Given the description of an element on the screen output the (x, y) to click on. 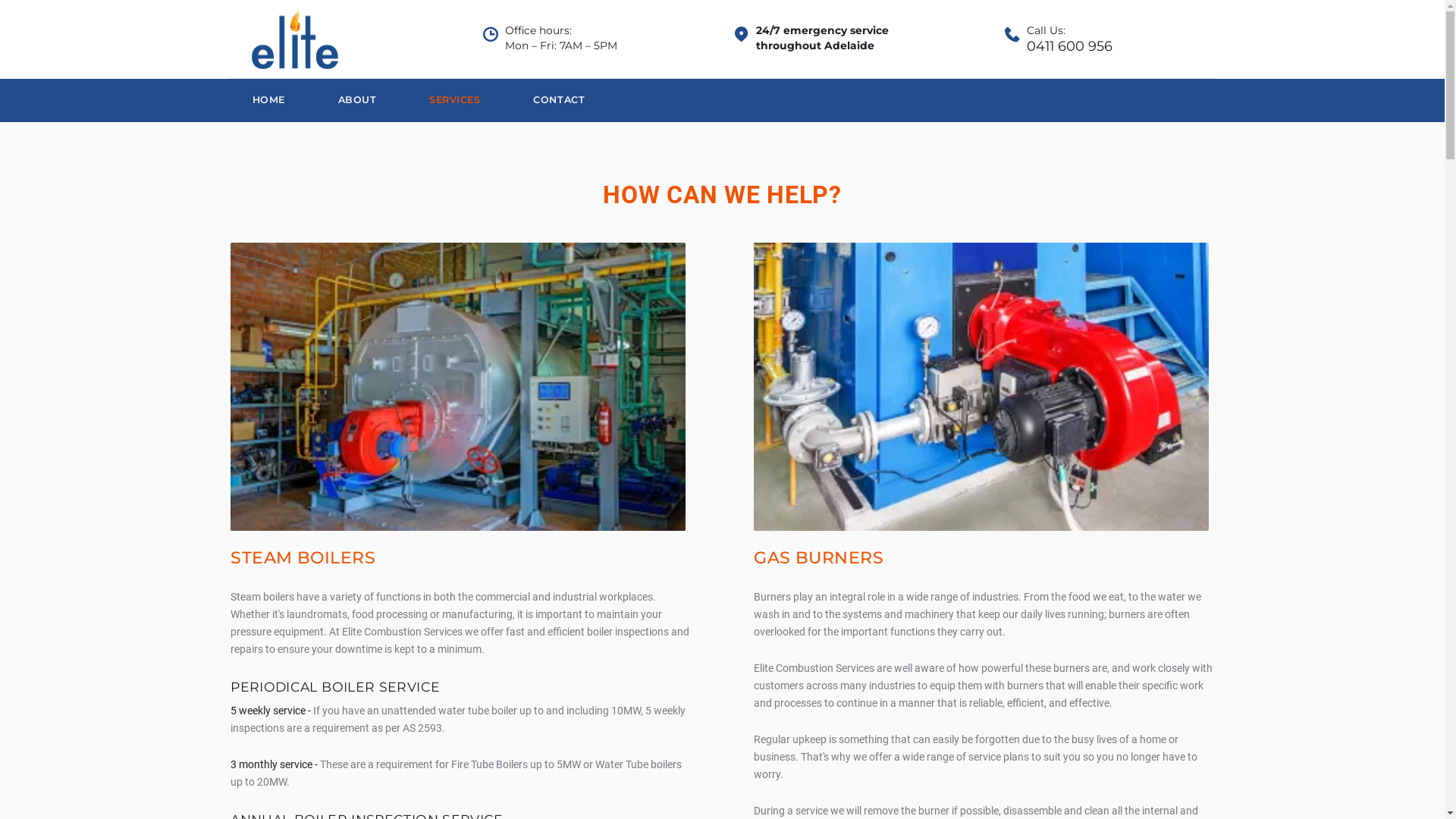
CONTACT Element type: text (562, 100)
ABOUT Element type: text (361, 100)
HOME Element type: text (272, 100)
STEAM BOILERS Element type: text (302, 557)
SERVICES Element type: text (458, 100)
0411 600 956 Element type: text (1069, 46)
GAS BURNERS Element type: text (818, 557)
